Given the description of an element on the screen output the (x, y) to click on. 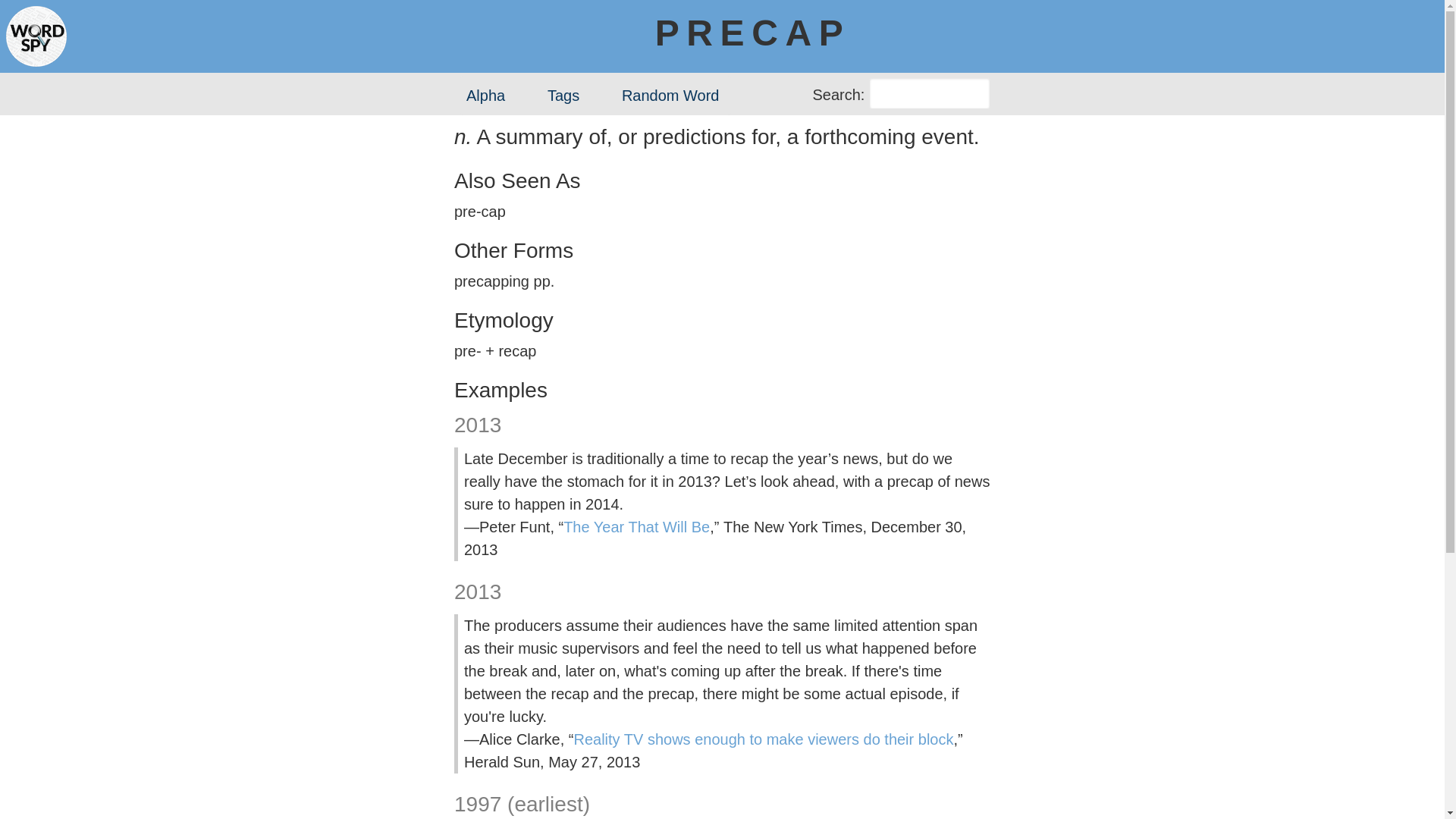
Reality TV shows enough to make viewers do their block (763, 739)
The Year That Will Be (636, 526)
Tags (563, 95)
Alpha (485, 95)
Random Word (670, 95)
